Given the description of an element on the screen output the (x, y) to click on. 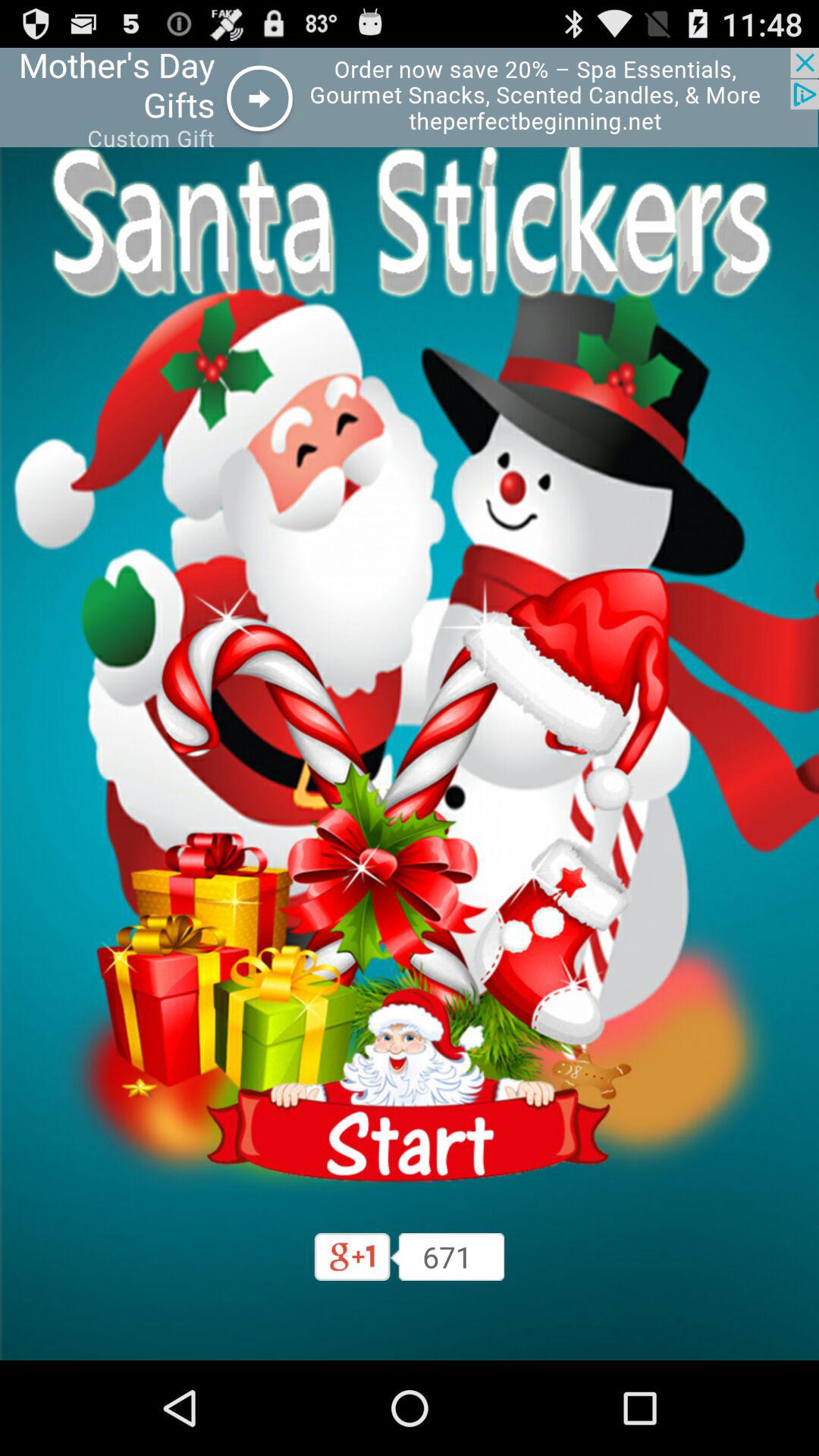
starts game (409, 1085)
